Given the description of an element on the screen output the (x, y) to click on. 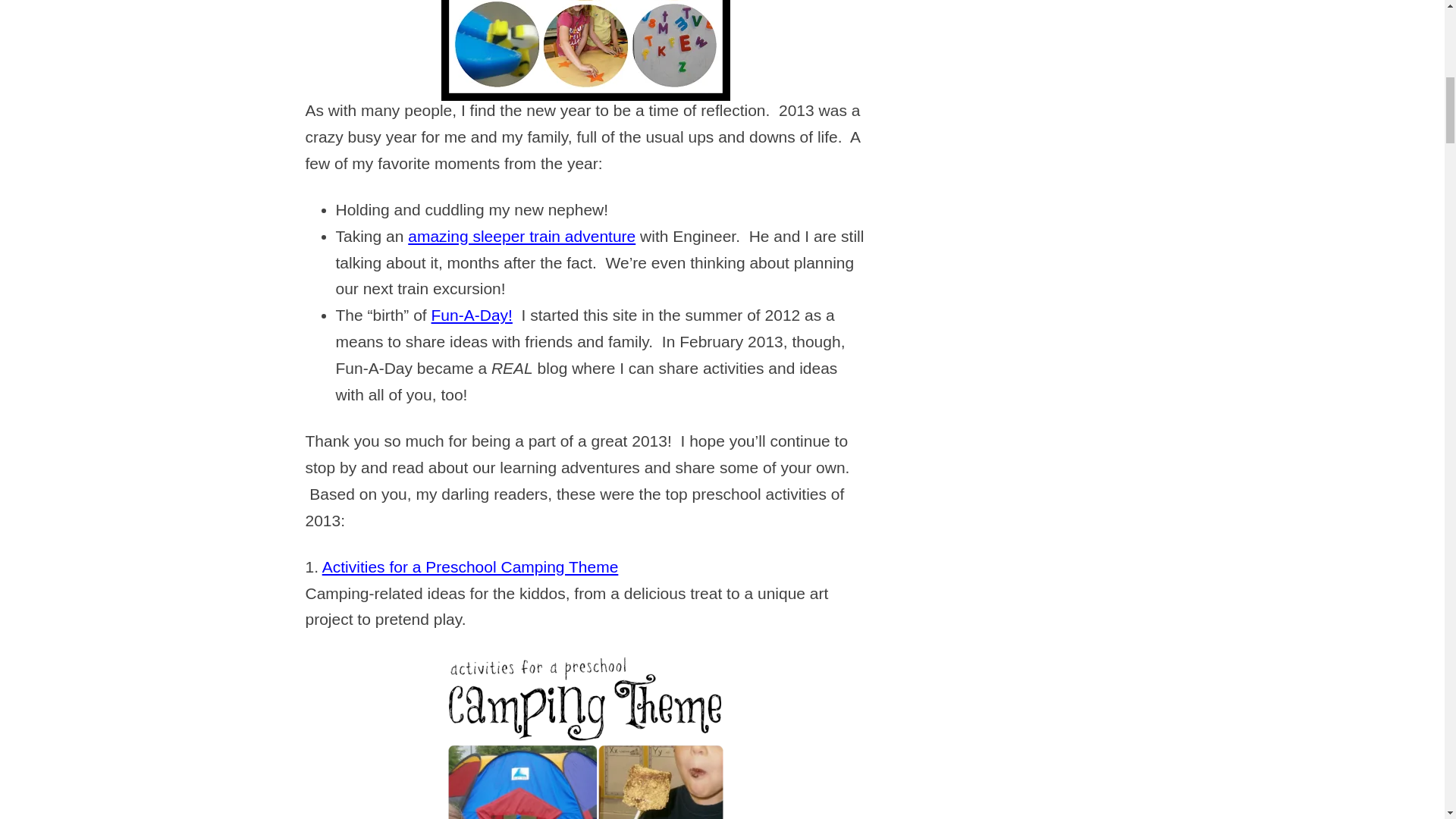
Fun-A-Day! (471, 314)
Fun-A-Day's Top Preschool Activities of 2013  (585, 50)
Activities for a Preschool Camping Theme (469, 566)
amazing sleeper train adventure (520, 235)
